Given the description of an element on the screen output the (x, y) to click on. 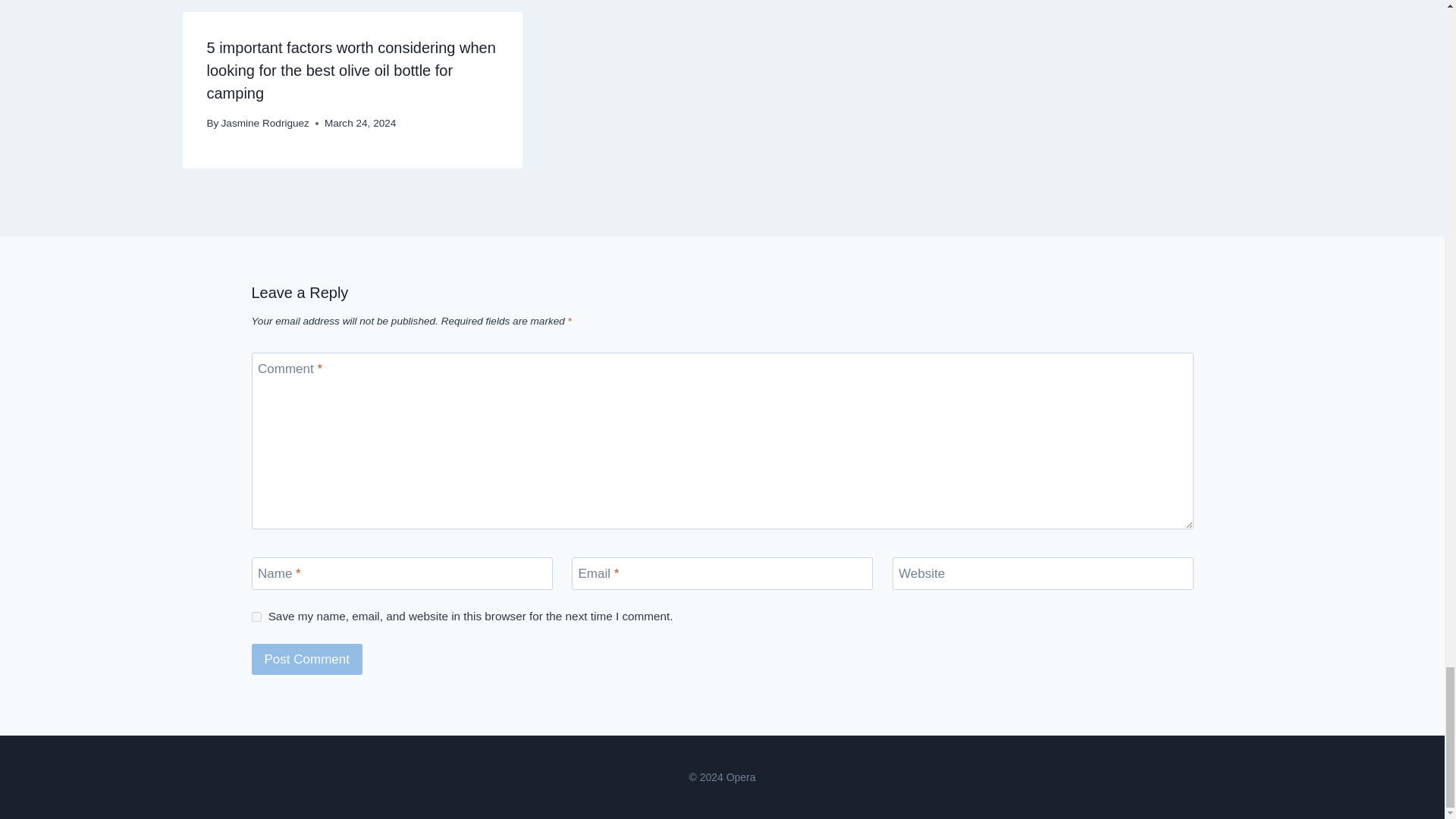
Post Comment (306, 658)
yes (256, 616)
Post Comment (306, 658)
Jasmine Rodriguez (264, 122)
